Given the description of an element on the screen output the (x, y) to click on. 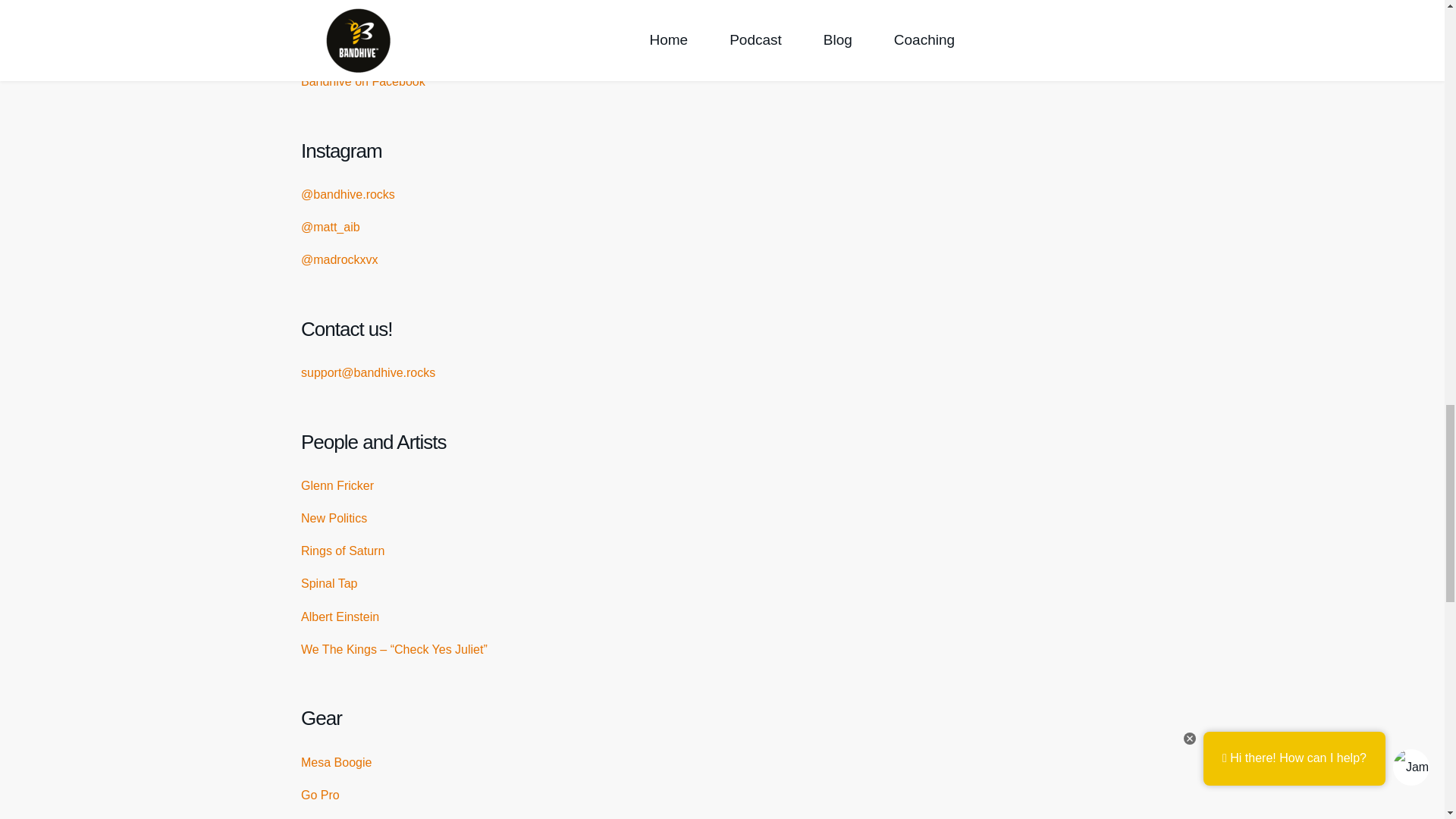
Bandhive on Facebook (363, 81)
Rings of Saturn (342, 550)
Glenn Fricker (337, 485)
Go Pro (320, 794)
Spinal Tap (328, 583)
New Politics (333, 517)
Albert Einstein (339, 616)
Mesa Boogie (336, 762)
